Given the description of an element on the screen output the (x, y) to click on. 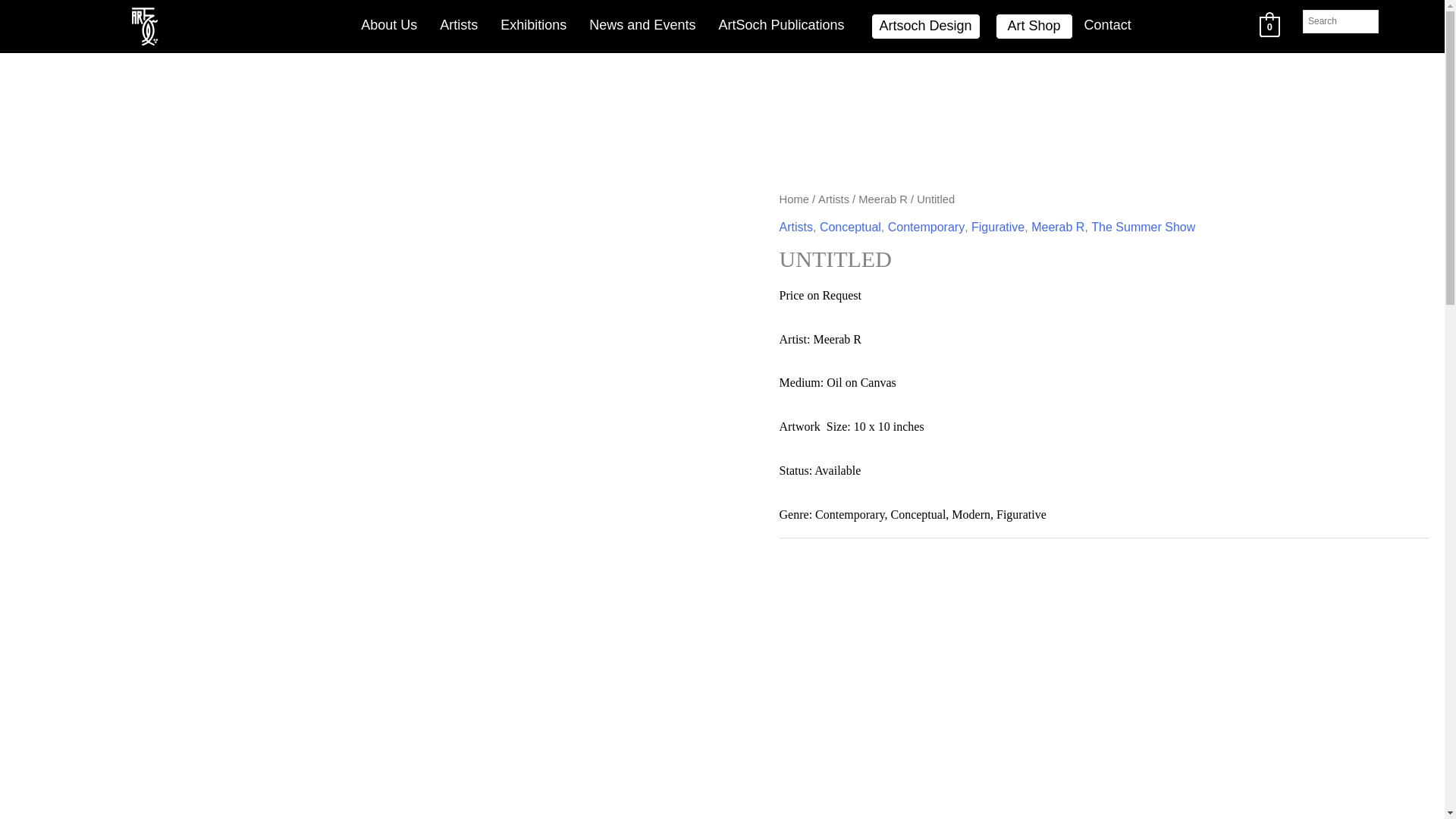
Art Shop (1034, 26)
Artists (458, 25)
About Us (388, 25)
View your shopping cart (1269, 25)
News and Events (642, 25)
Artsoch Design (924, 26)
Contact (1107, 25)
ArtSoch Publications (781, 25)
Exhibitions (533, 25)
